Given the description of an element on the screen output the (x, y) to click on. 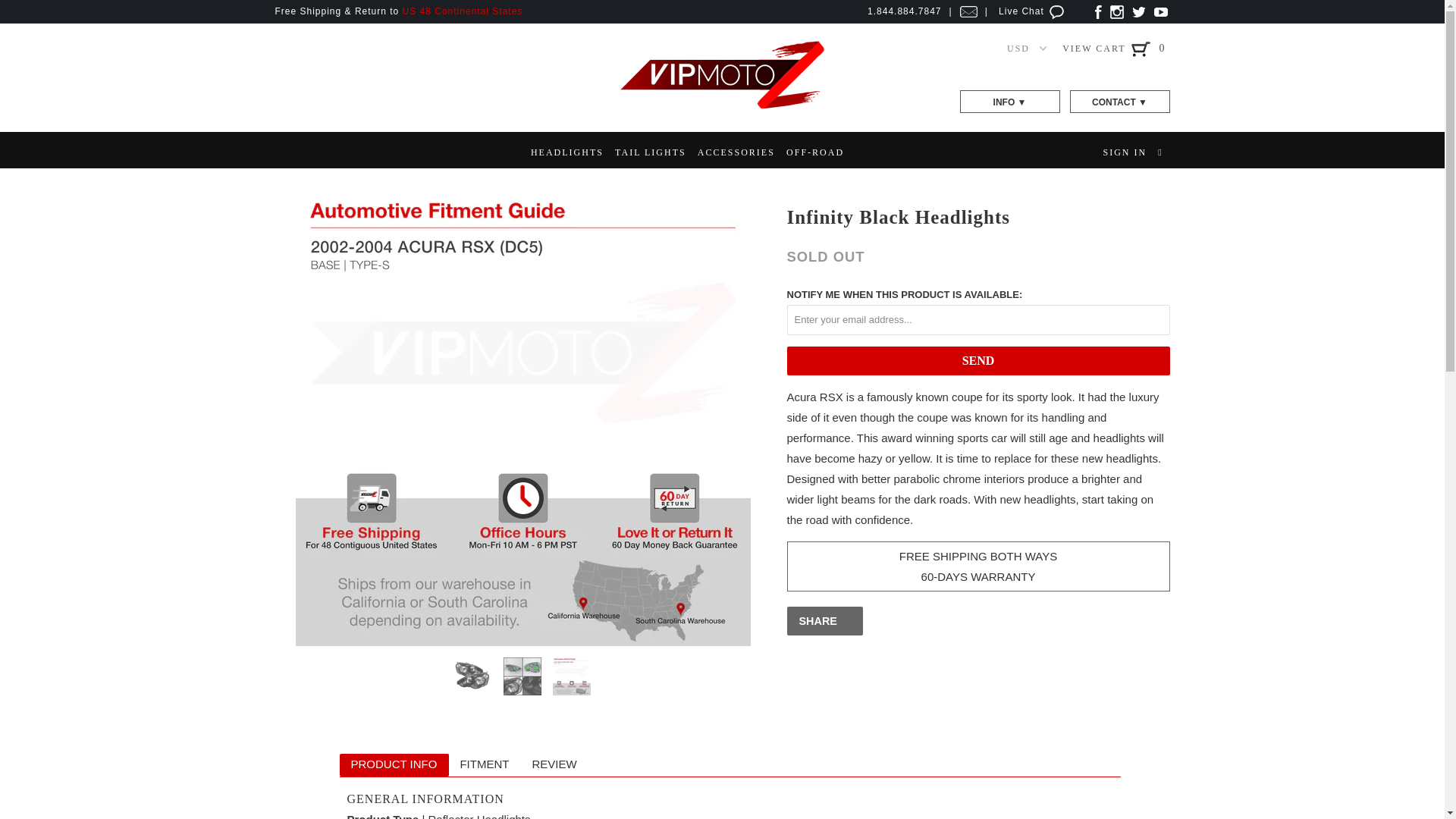
Vipmotoz on Instagram (1116, 10)
OFF-ROAD (815, 152)
ACCESSORIES (735, 152)
Vipmotoz (722, 105)
Live Chat (1032, 10)
ACCESSORIES (735, 152)
OFF-ROAD (815, 152)
SIGN IN (1124, 152)
Send (978, 360)
Vipmotoz on Twitter (1138, 10)
My Account  (1124, 152)
TAIL LIGHTS (649, 152)
Vipmotoz on Youtube (1160, 10)
VIEW CART (1107, 48)
